Given the description of an element on the screen output the (x, y) to click on. 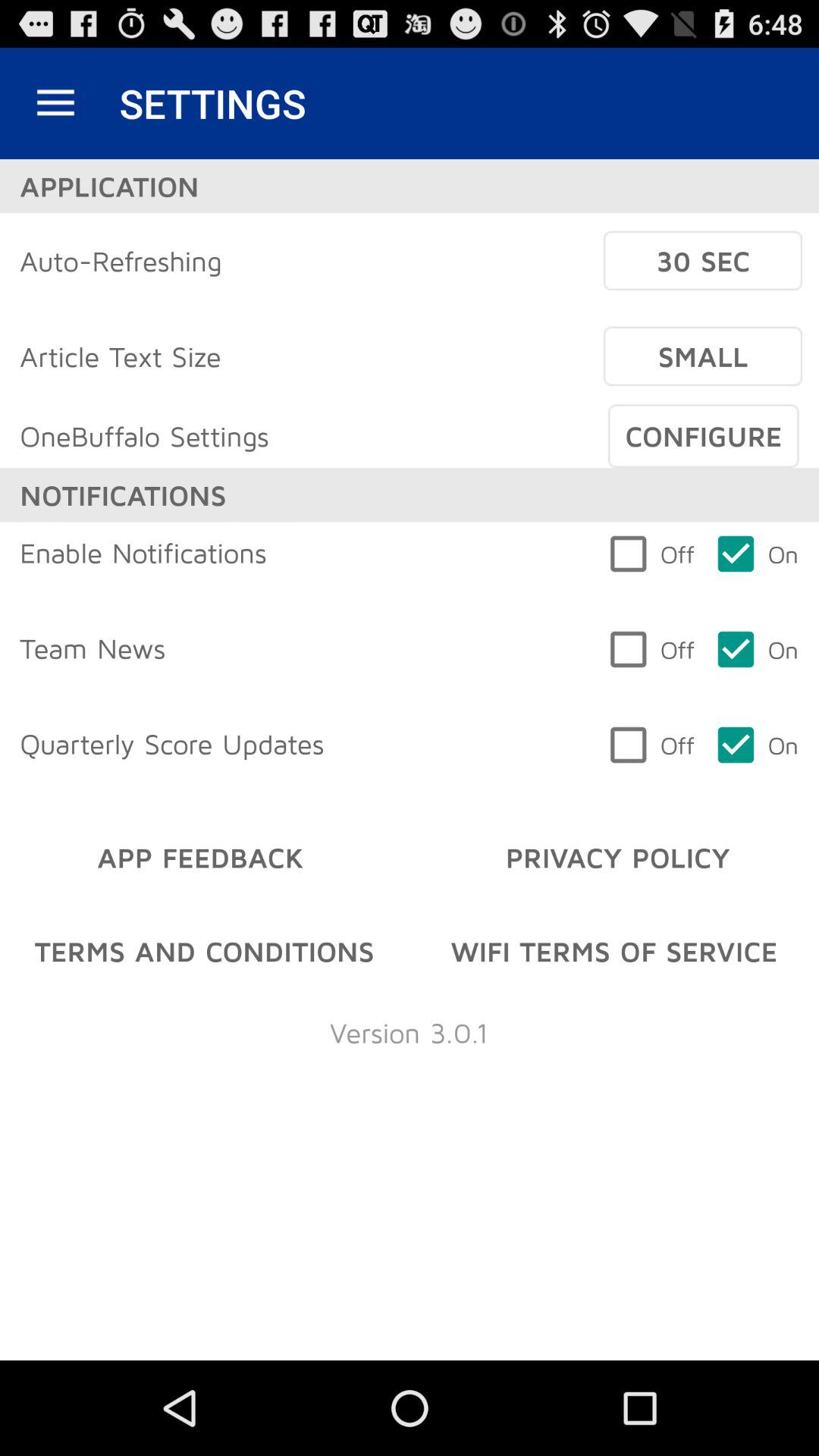
select item next to settings item (55, 103)
